Given the description of an element on the screen output the (x, y) to click on. 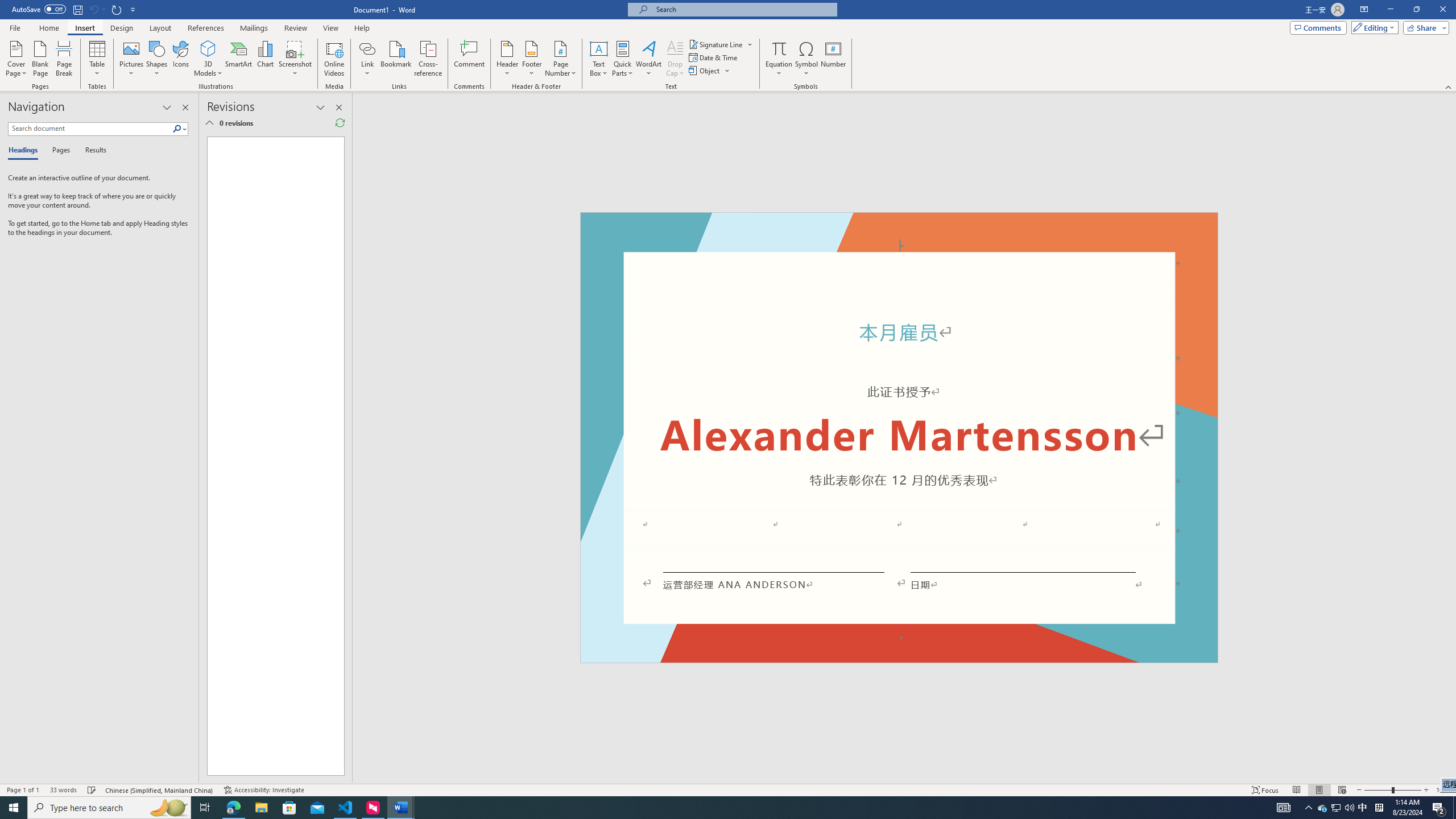
Signature Line (716, 44)
Search document (89, 128)
Object... (705, 69)
